Given the description of an element on the screen output the (x, y) to click on. 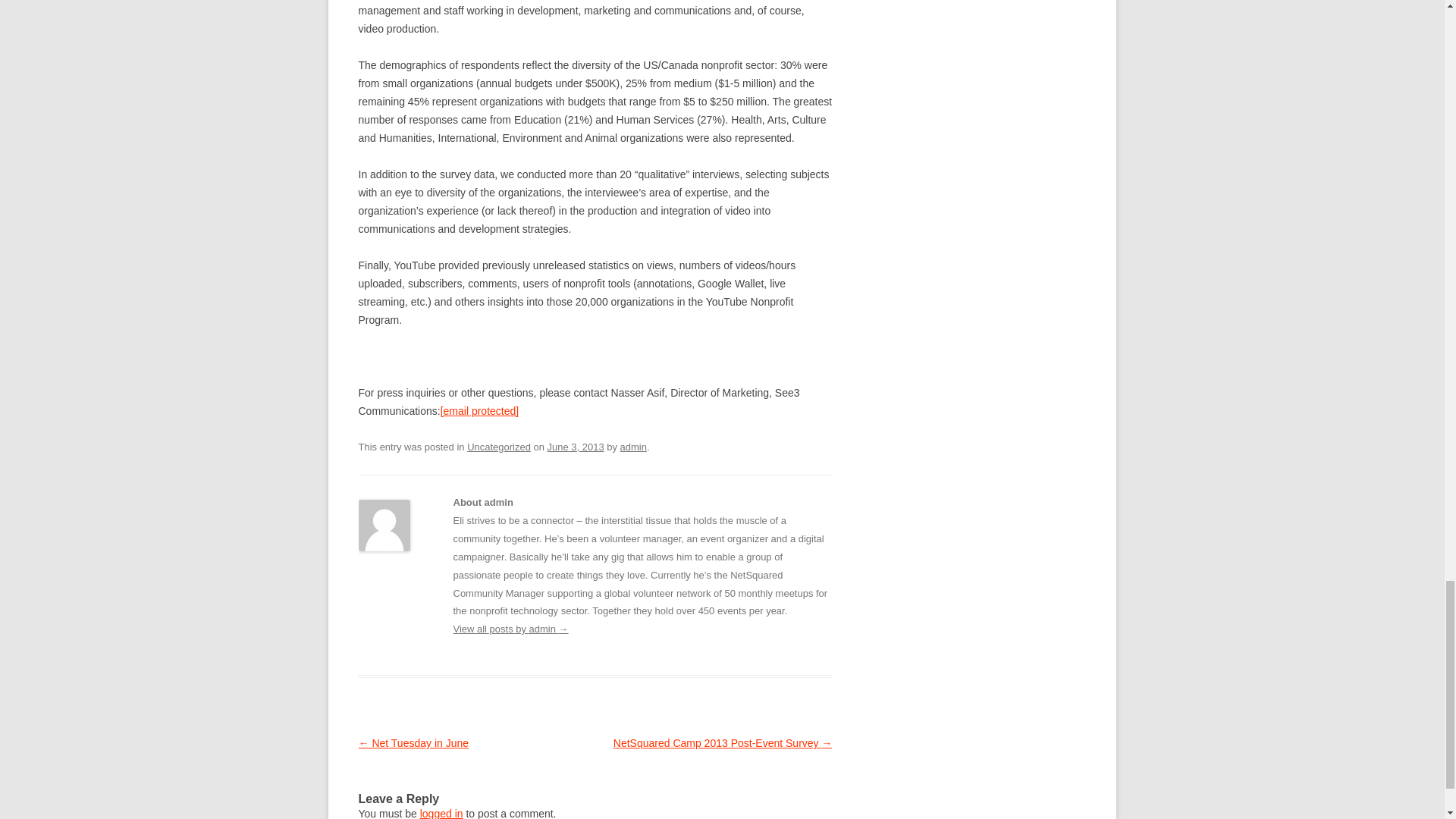
admin (633, 446)
2:47 pm (575, 446)
June 3, 2013 (575, 446)
Uncategorized (499, 446)
View all posts by admin (633, 446)
